Given the description of an element on the screen output the (x, y) to click on. 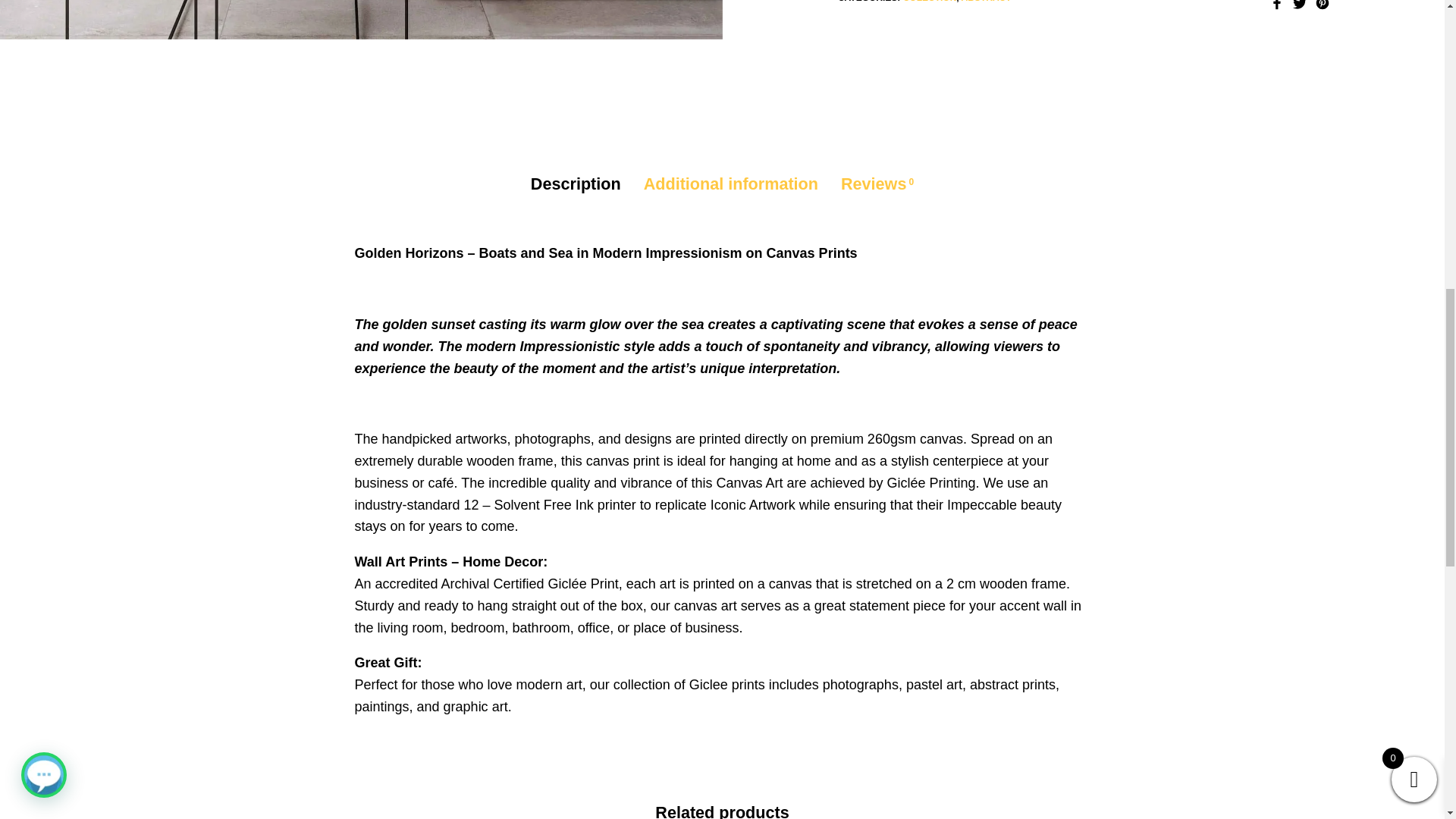
boats-and-sea-c4 (361, 20)
